Given the description of an element on the screen output the (x, y) to click on. 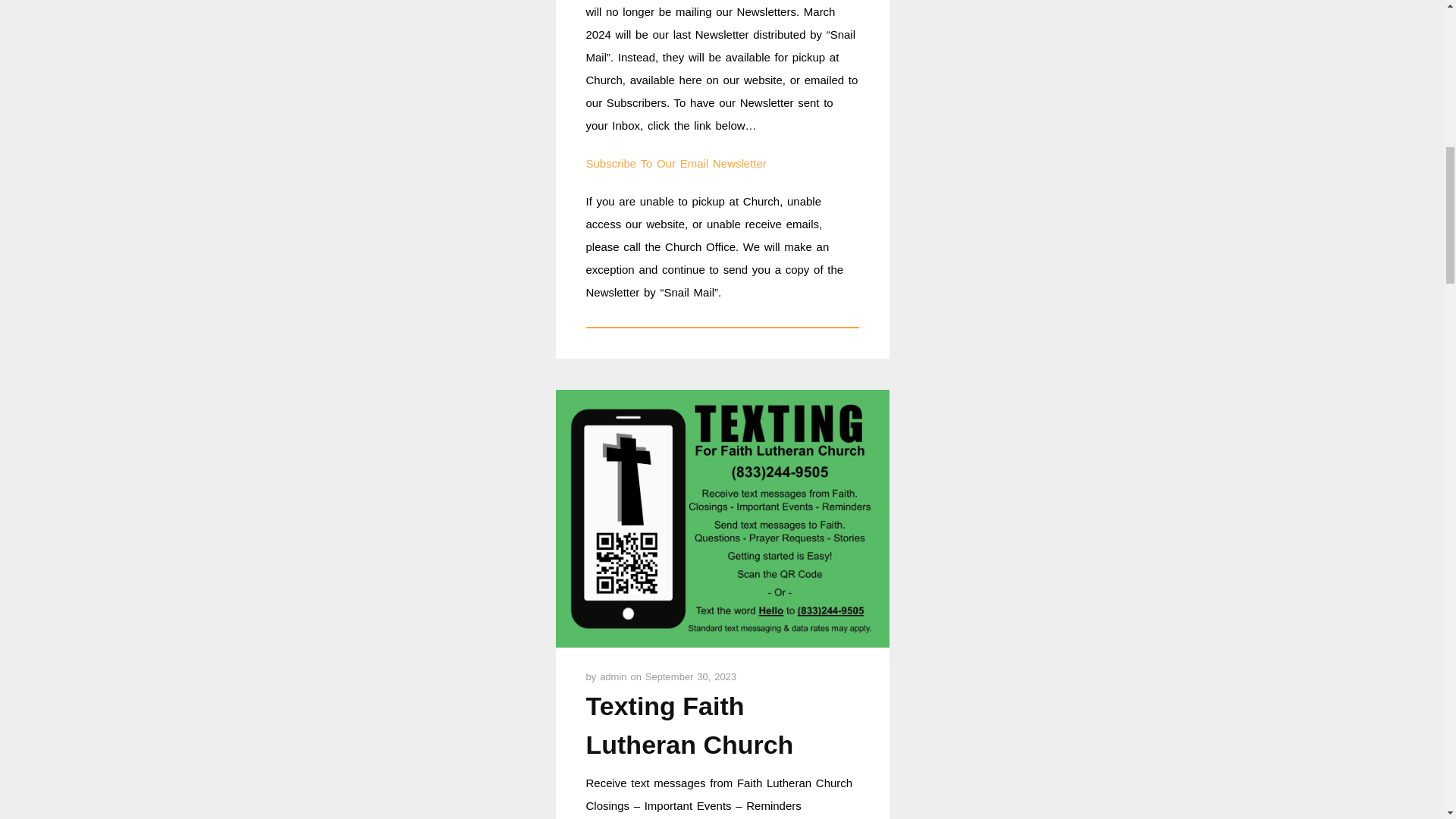
Texting Faith Lutheran Church (689, 725)
Subscribe To Our Email Newsletter (675, 163)
admin (614, 676)
